Given the description of an element on the screen output the (x, y) to click on. 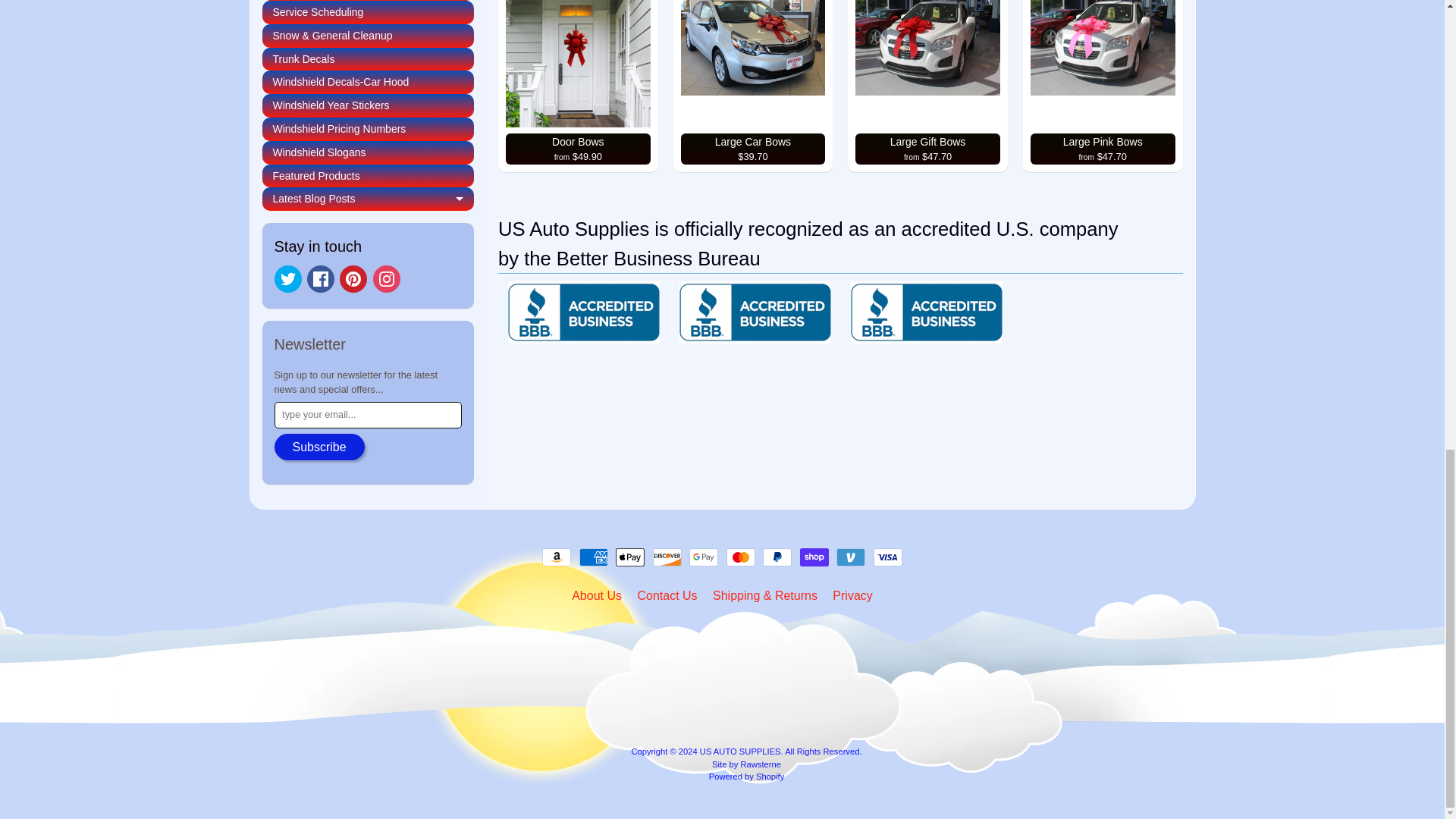
Instagram (386, 278)
Large Gift Bows (927, 86)
Large Pink Bows (1102, 86)
Facebook (320, 278)
Door Bows (577, 86)
Twitter (288, 278)
Shopify theme by Rawsterne (745, 764)
Pinterest (352, 278)
Large Car Bows (752, 86)
